Given the description of an element on the screen output the (x, y) to click on. 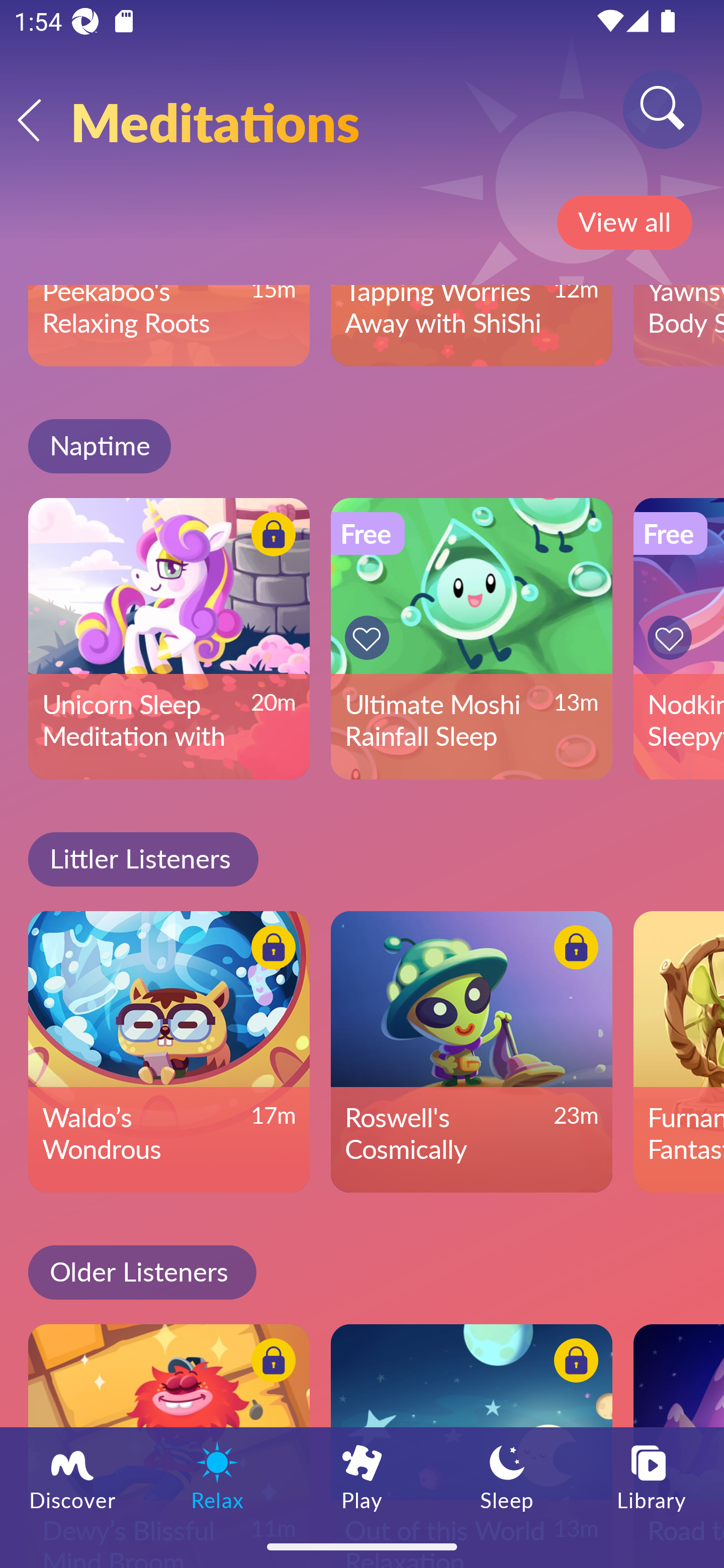
View all (624, 222)
Button (269, 537)
Button (369, 637)
Button (672, 637)
Button (269, 950)
Button (573, 950)
Button (269, 1363)
Button (573, 1363)
Discover (72, 1475)
Play (361, 1475)
Sleep (506, 1475)
Library (651, 1475)
